Given the description of an element on the screen output the (x, y) to click on. 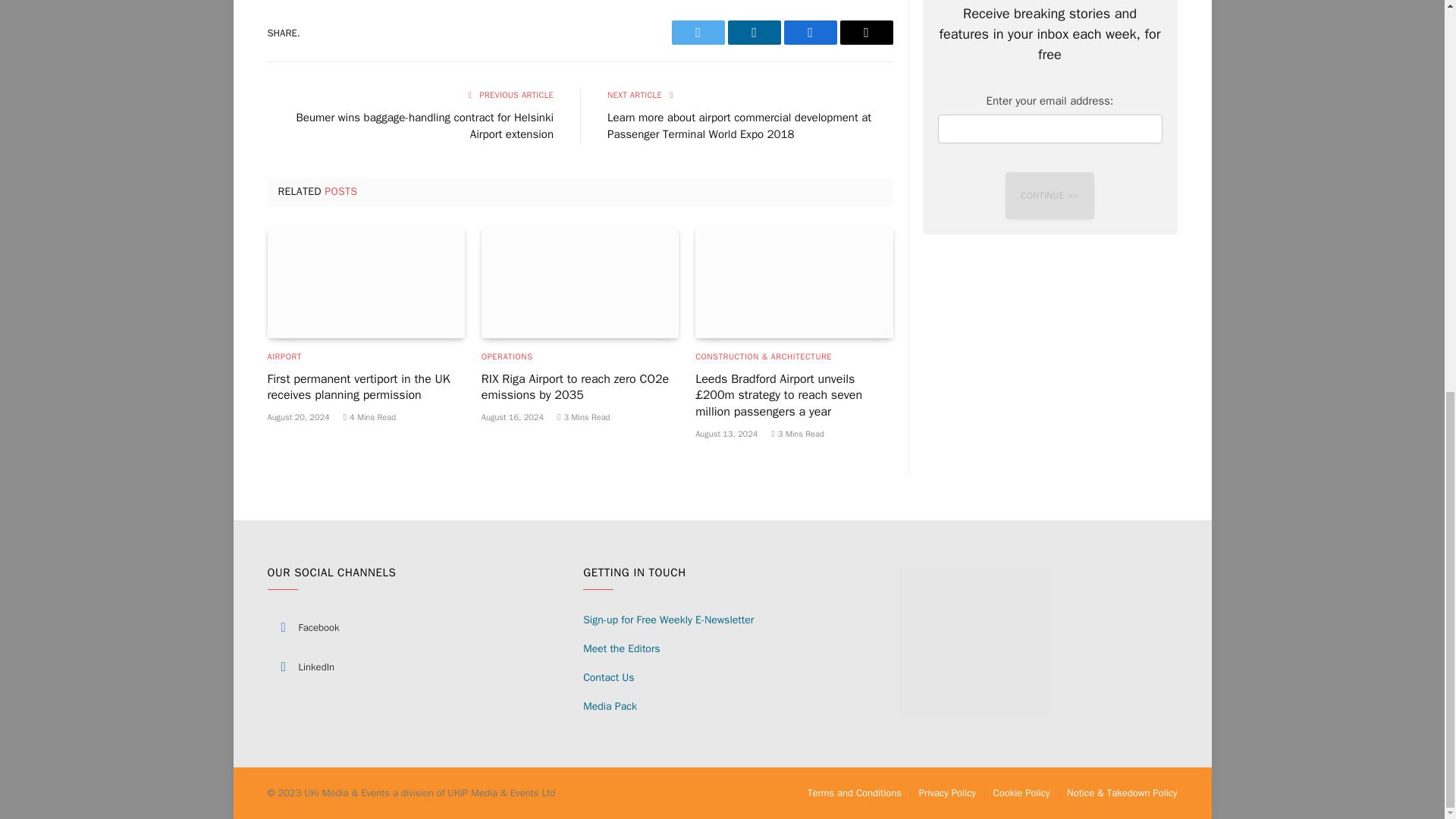
Share on Facebook (810, 32)
RIX Riga Airport to reach zero CO2e emissions by 2035 (579, 282)
Share on LinkedIn (754, 32)
Share via Email (866, 32)
